Given the description of an element on the screen output the (x, y) to click on. 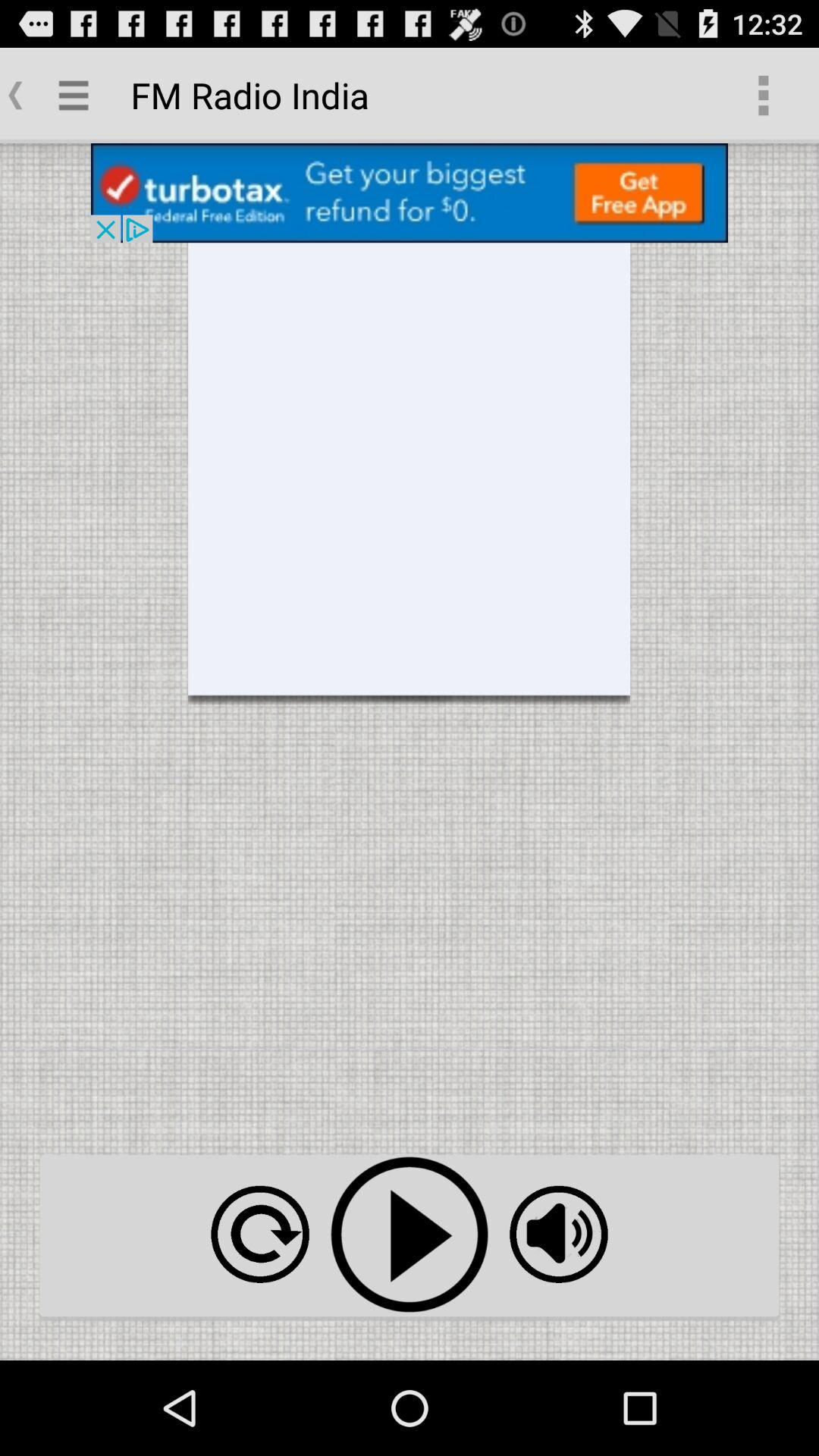
replay option (259, 1234)
